Given the description of an element on the screen output the (x, y) to click on. 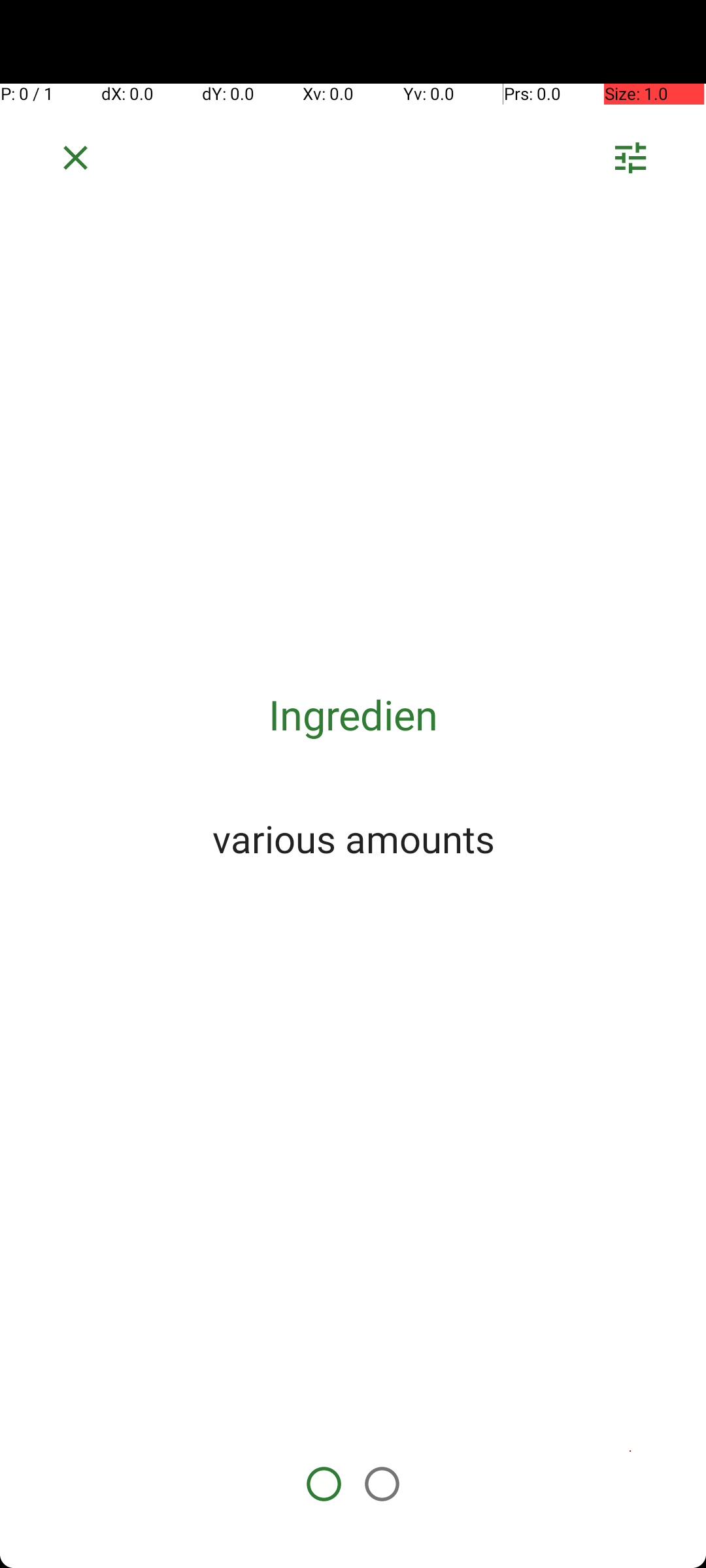
various amounts Element type: android.widget.TextView (352, 838)
